Given the description of an element on the screen output the (x, y) to click on. 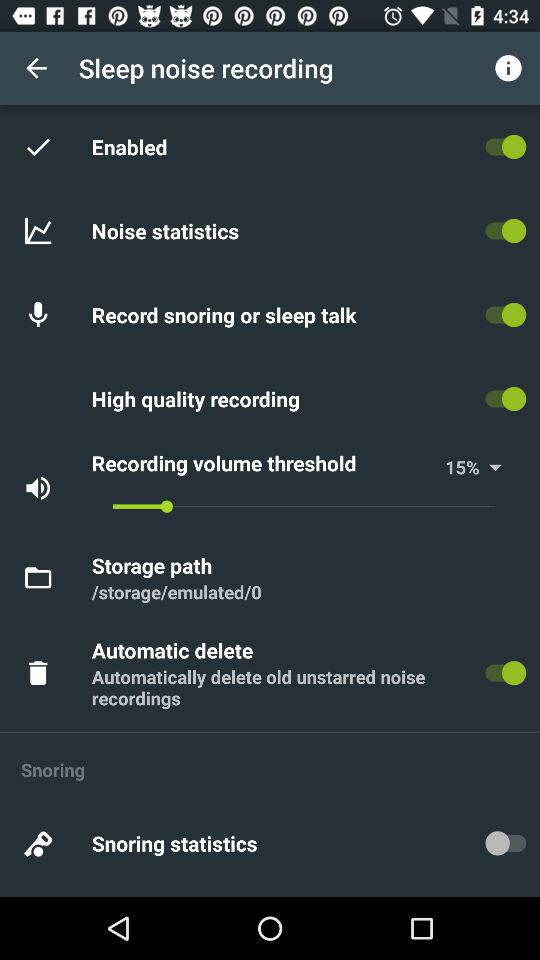
launch item to the left of 15 item (265, 462)
